Given the description of an element on the screen output the (x, y) to click on. 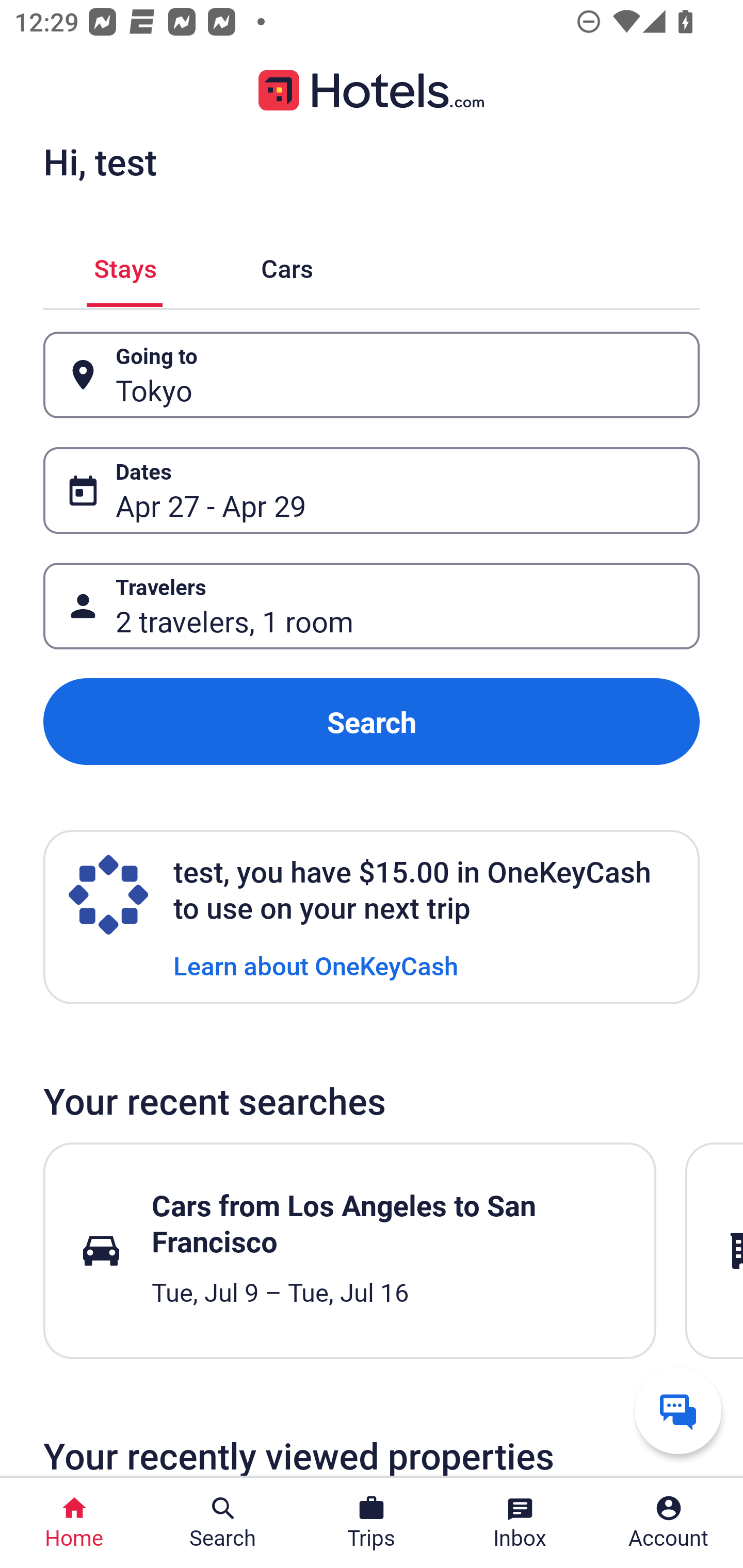
Hi, test (99, 161)
Cars (286, 265)
Going to Button Tokyo (371, 375)
Dates Button Apr 27 - Apr 29 (371, 489)
Travelers Button 2 travelers, 1 room (371, 605)
Search (371, 721)
Learn about OneKeyCash Learn about OneKeyCash Link (315, 964)
Get help from a virtual agent (677, 1410)
Search Search Button (222, 1522)
Trips Trips Button (371, 1522)
Inbox Inbox Button (519, 1522)
Account Profile. Button (668, 1522)
